Given the description of an element on the screen output the (x, y) to click on. 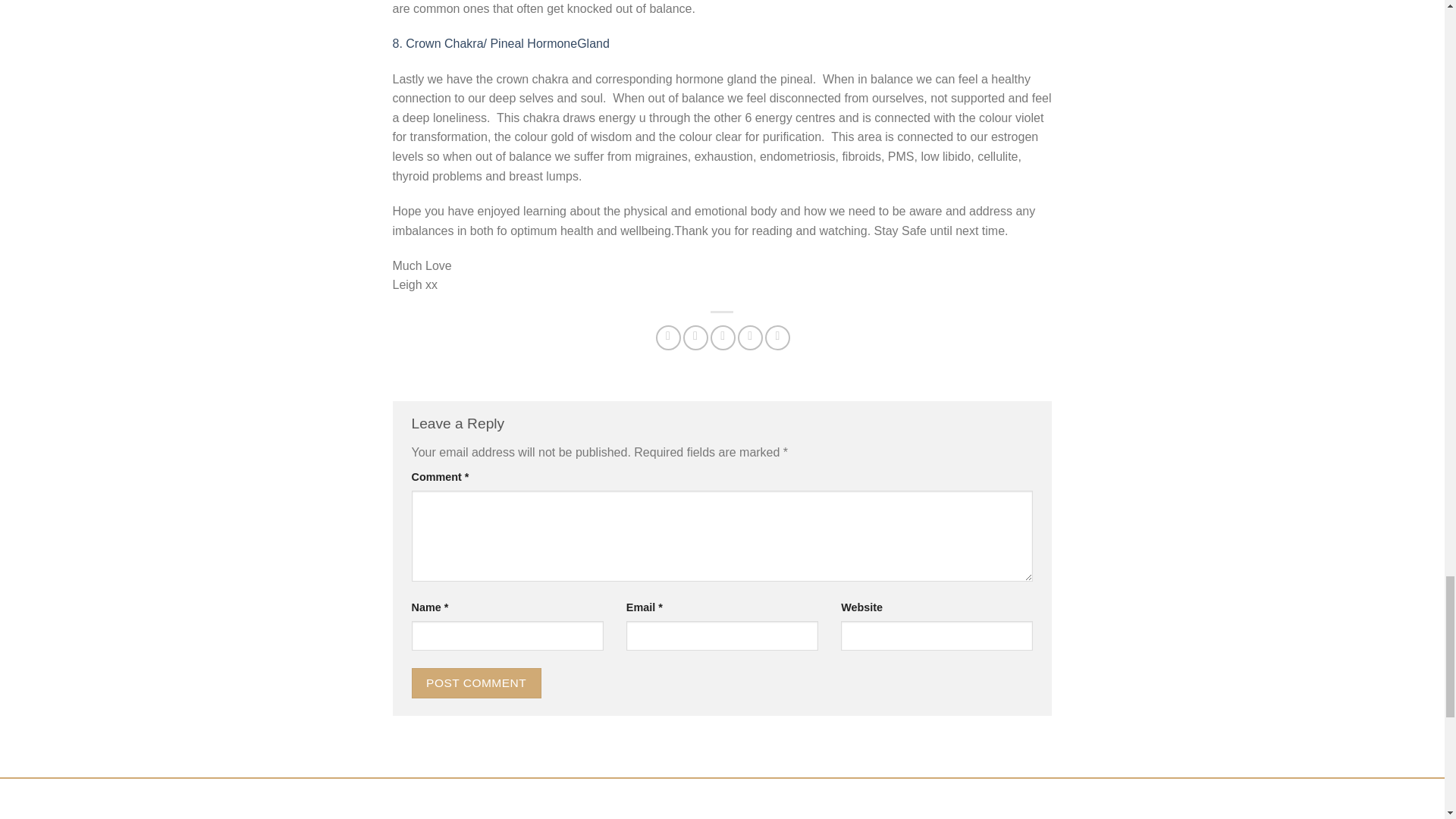
Post Comment (475, 682)
